Given the description of an element on the screen output the (x, y) to click on. 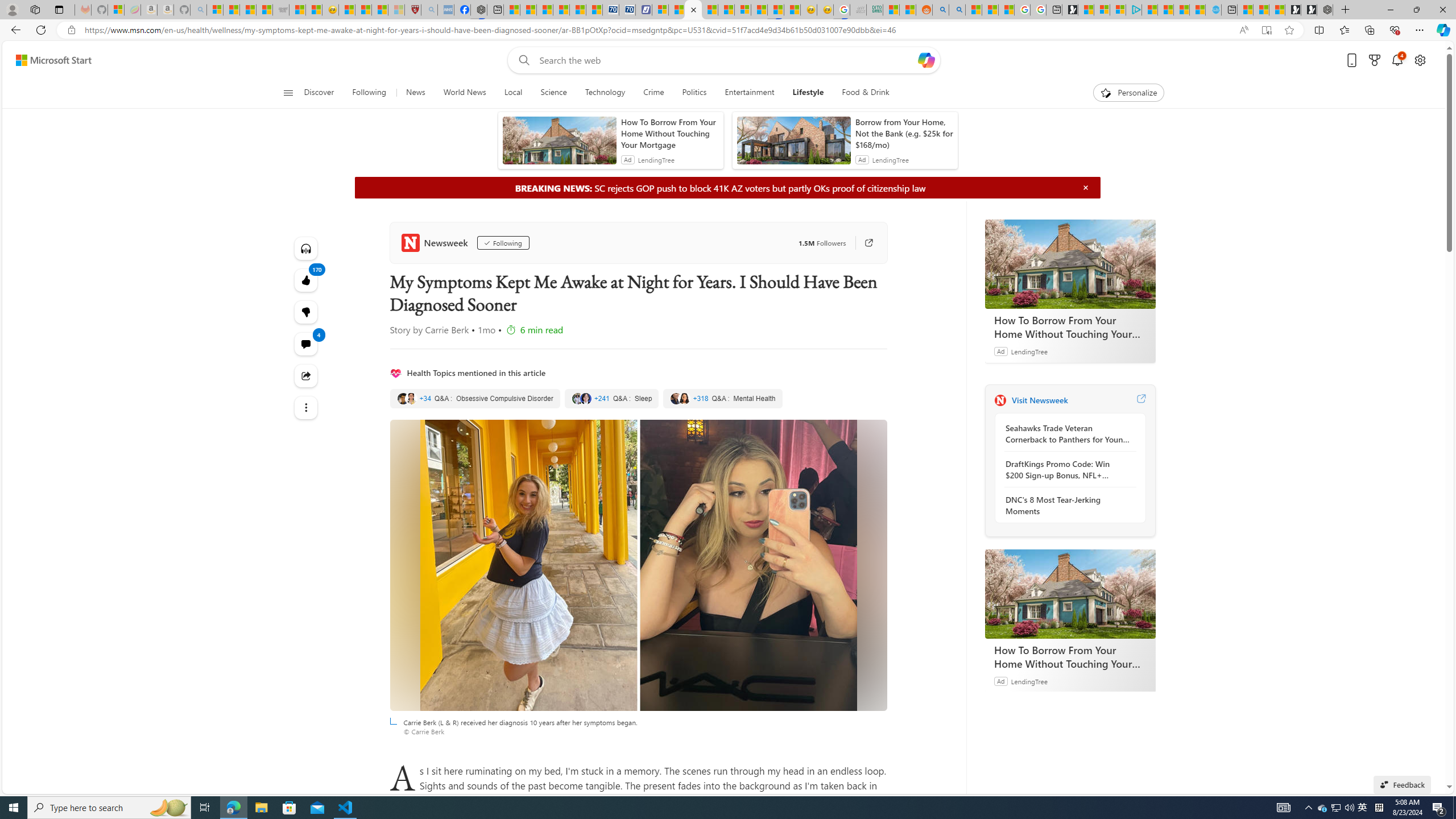
Combat Siege (280, 9)
Class: quote-thumbnail (684, 398)
anim-content (793, 144)
NCL Adult Asthma Inhaler Choice Guideline - Sleeping (445, 9)
Open navigation menu (287, 92)
Navy Quest (857, 9)
Listen to this article (305, 248)
Cheap Car Rentals - Save70.com (611, 9)
Cheap Hotels - Save70.com (627, 9)
